Given the description of an element on the screen output the (x, y) to click on. 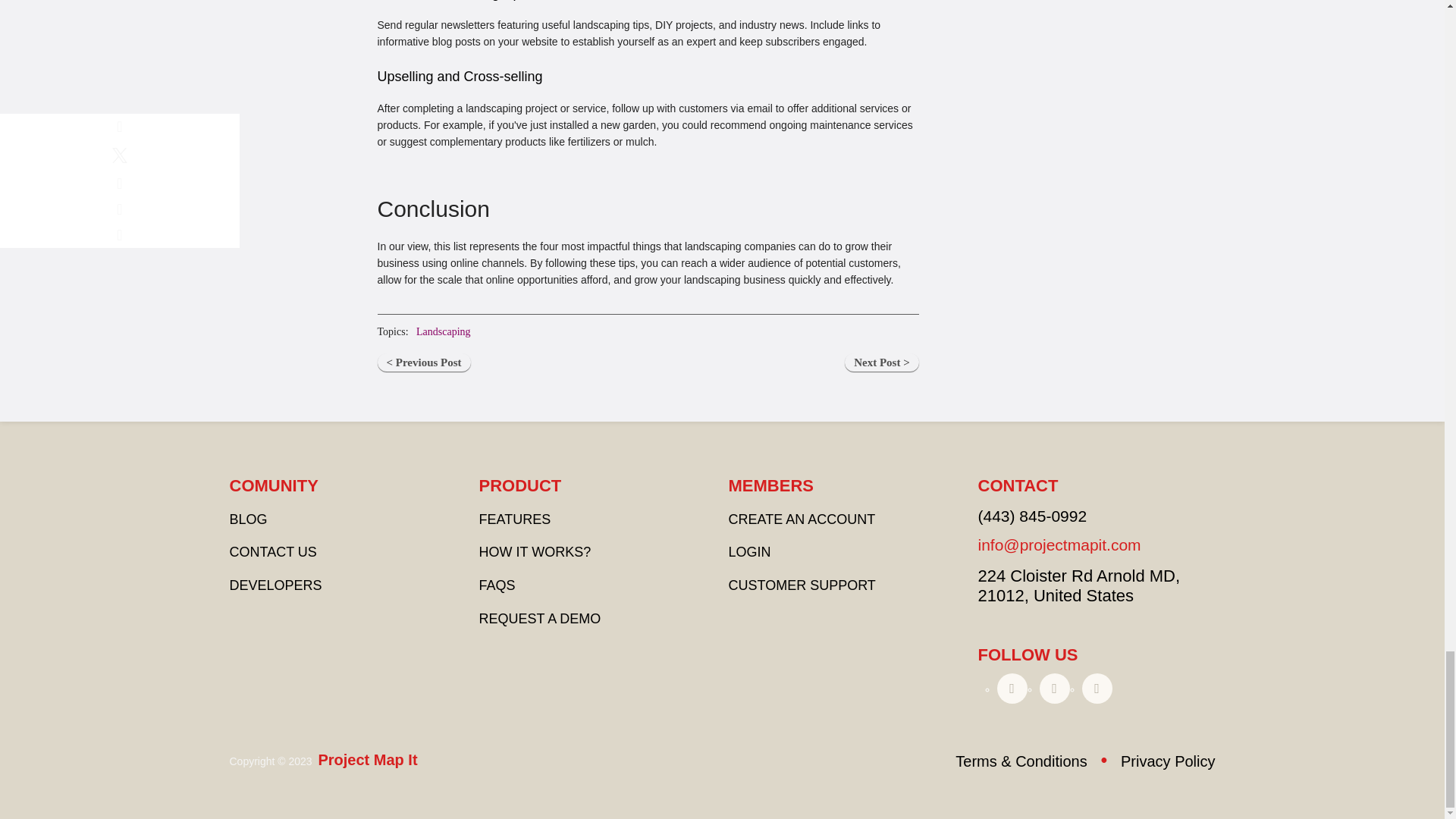
FEATURES (515, 519)
BLOG (247, 519)
REQUEST A DEMO (540, 618)
DEVELOPERS (274, 585)
FAQS (497, 585)
LOGIN (749, 551)
HOW IT WORKS? (535, 551)
CONTACT US (271, 551)
CUSTOMER SUPPORT (801, 585)
Landscaping (443, 331)
